Given the description of an element on the screen output the (x, y) to click on. 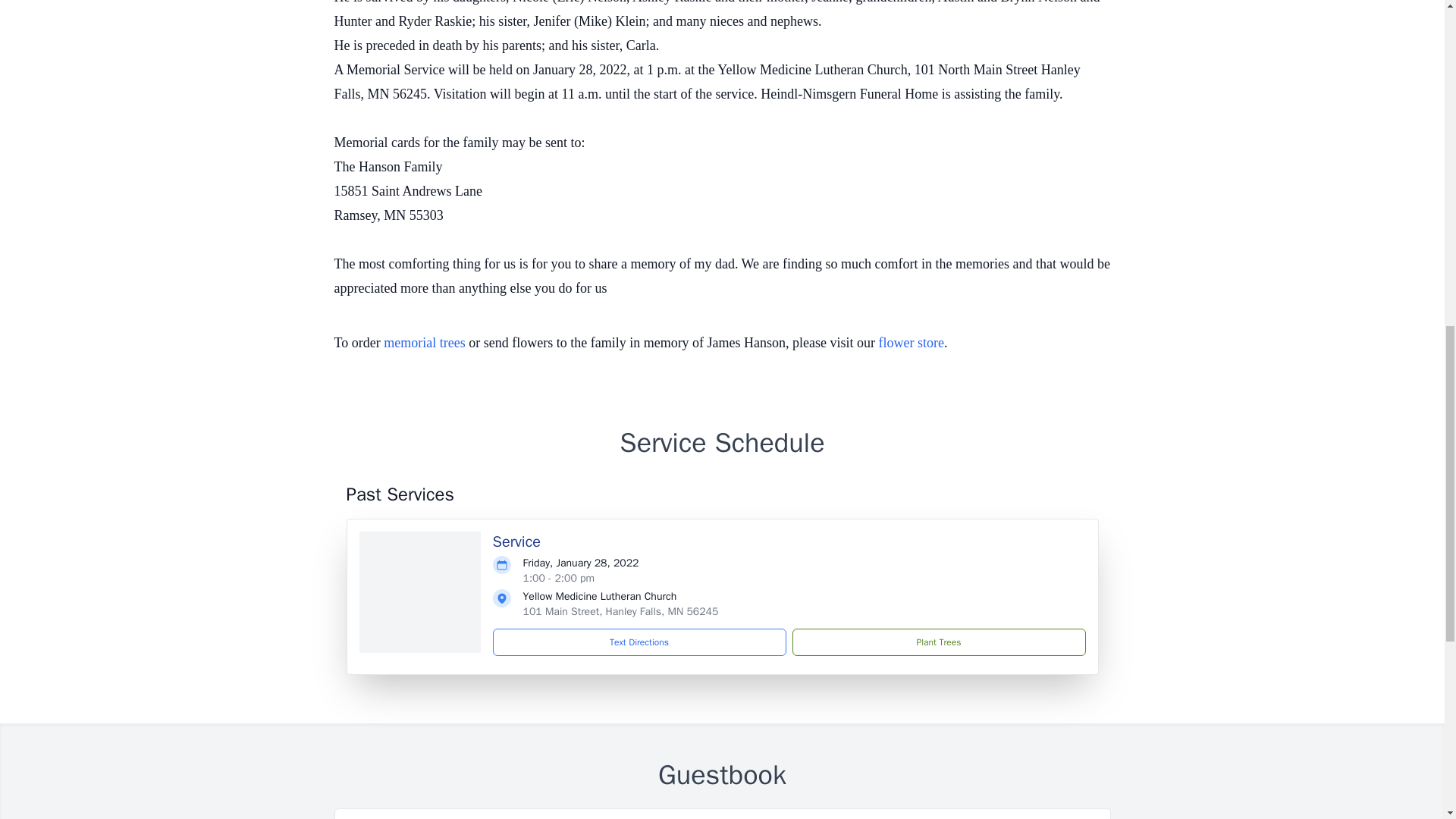
flower store (911, 342)
Text Directions (639, 642)
Plant Trees (938, 642)
memorial trees (424, 342)
101 Main Street, Hanley Falls, MN 56245 (620, 611)
